Given the description of an element on the screen output the (x, y) to click on. 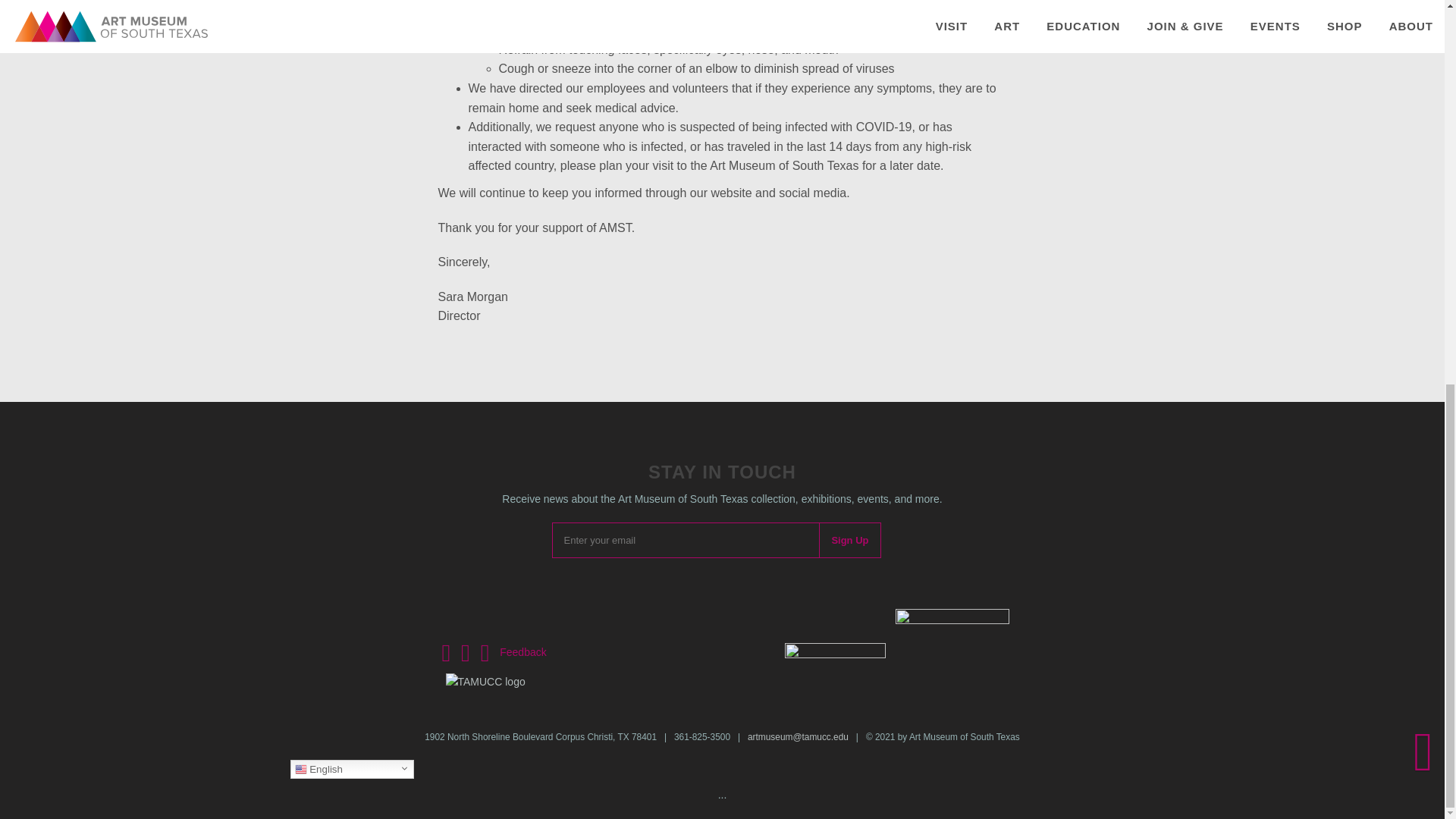
Sign Up (848, 540)
